Given the description of an element on the screen output the (x, y) to click on. 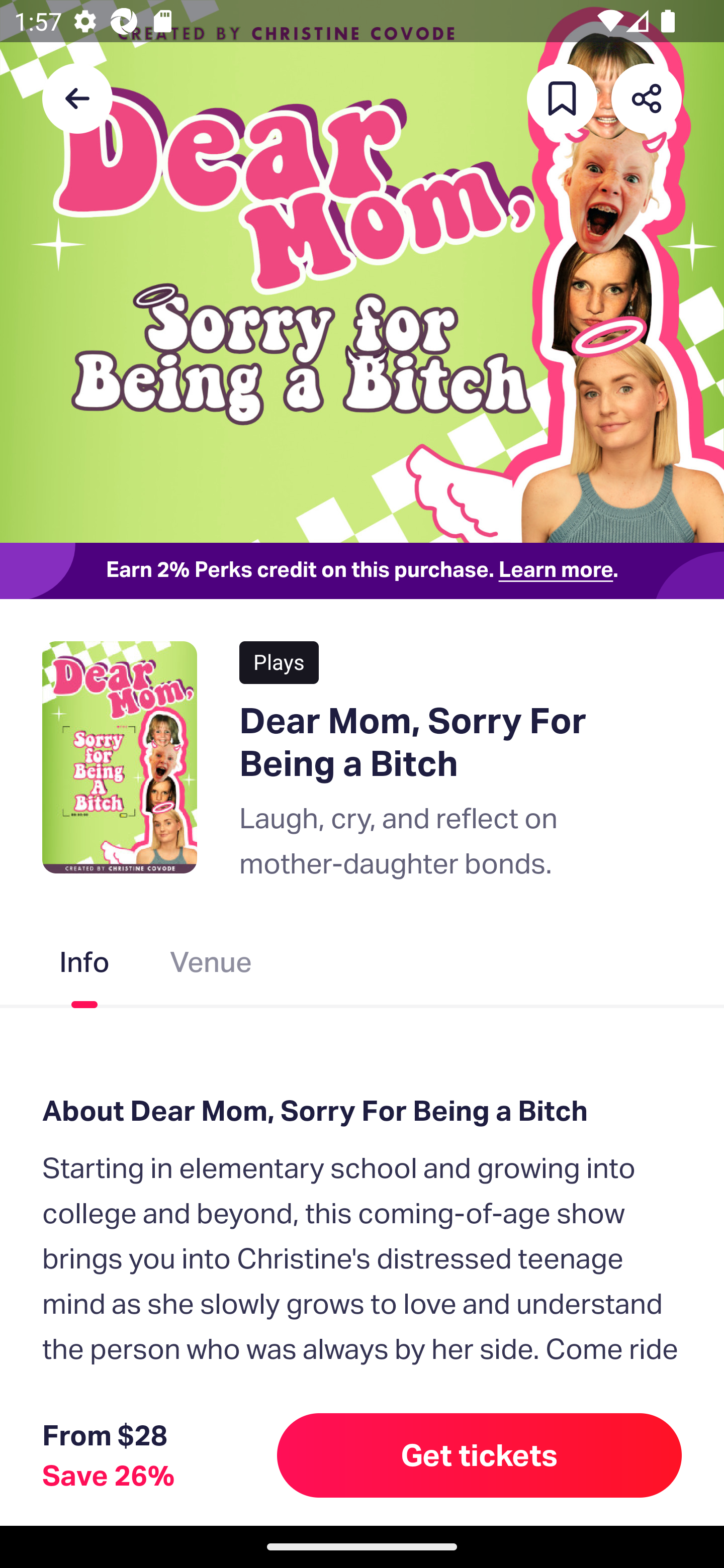
Earn 2% Perks credit on this purchase. Learn more. (362, 570)
Venue (210, 965)
About Dear Mom, Sorry For Being a Bitch (361, 1110)
Get tickets (479, 1454)
